Given the description of an element on the screen output the (x, y) to click on. 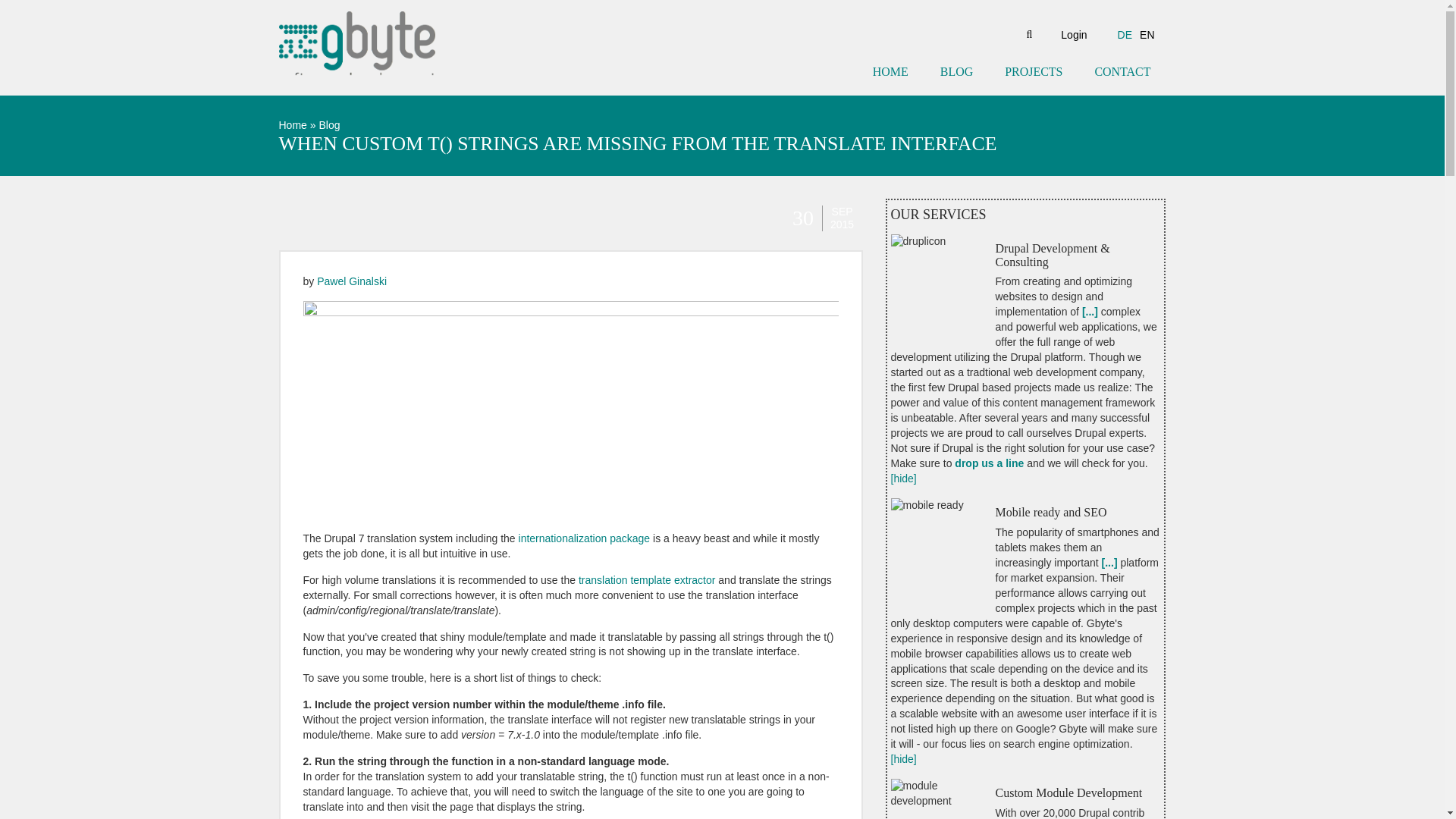
internationalization package (584, 538)
Login (1073, 34)
expand... (1110, 562)
translation template extractor (647, 580)
Home (293, 124)
drop us a line (989, 463)
View user profile. (352, 281)
PROJECTS (1033, 72)
show less... (902, 758)
Home (357, 47)
